Given the description of an element on the screen output the (x, y) to click on. 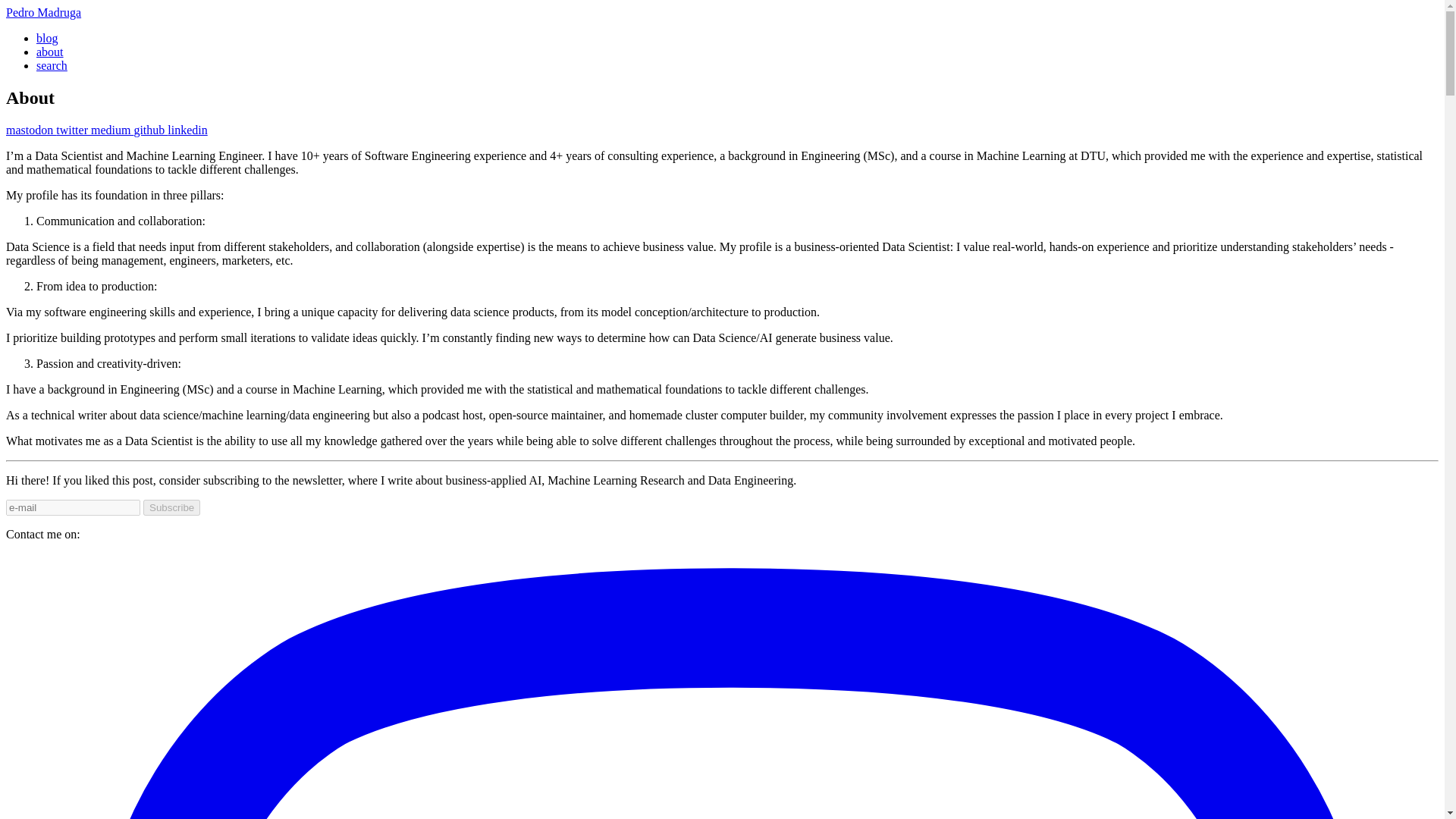
linkedin (186, 129)
Twitter (73, 129)
Medium (111, 129)
search (51, 65)
blog (47, 38)
blog (47, 38)
Github (150, 129)
Pedro Madruga (43, 11)
Linkedin (186, 129)
Mastodon (30, 129)
Subscribe (171, 507)
about (50, 51)
medium (111, 129)
github (150, 129)
twitter (73, 129)
